Given the description of an element on the screen output the (x, y) to click on. 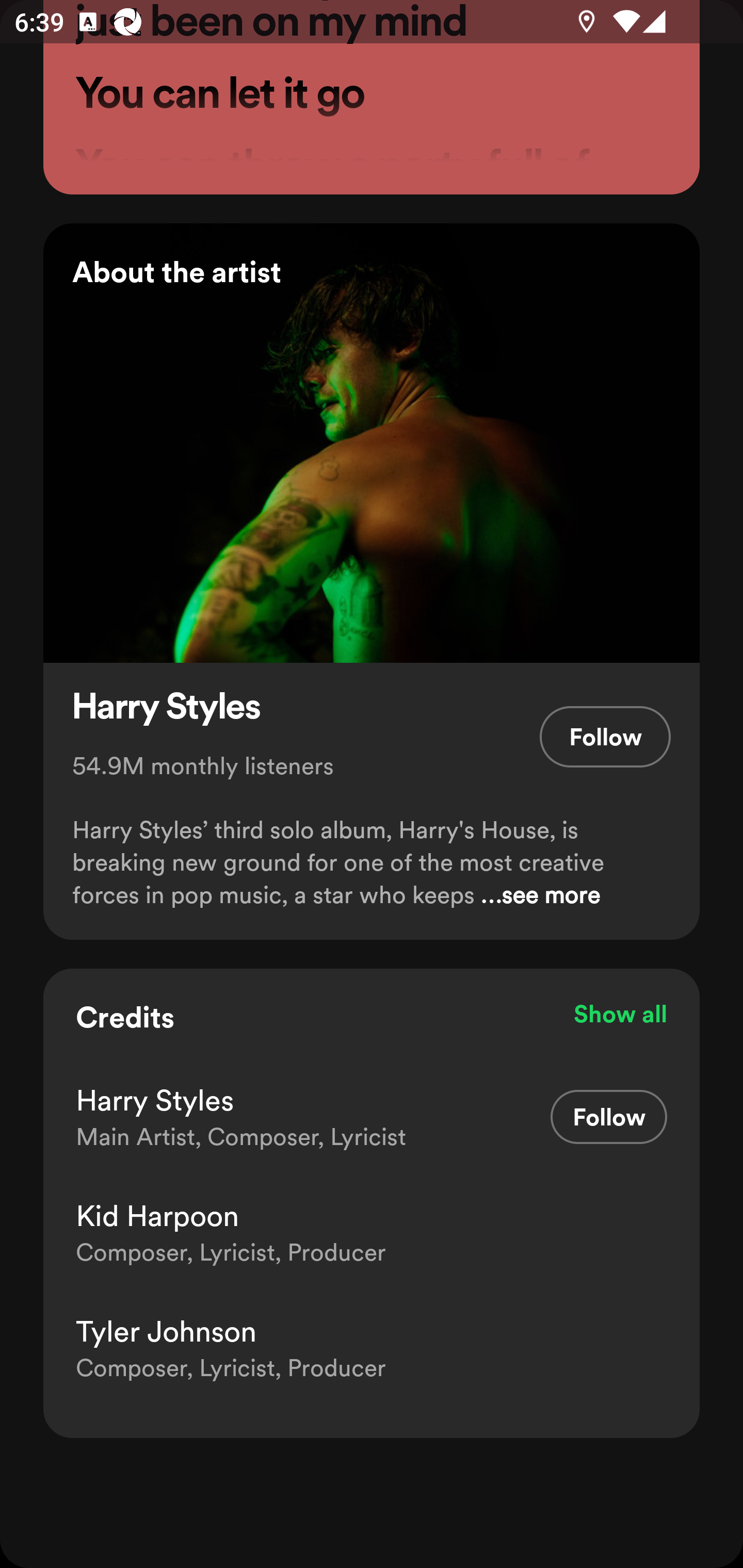
Follow Follow this Artist (604, 736)
Show all (620, 1013)
Follow (608, 1116)
